Given the description of an element on the screen output the (x, y) to click on. 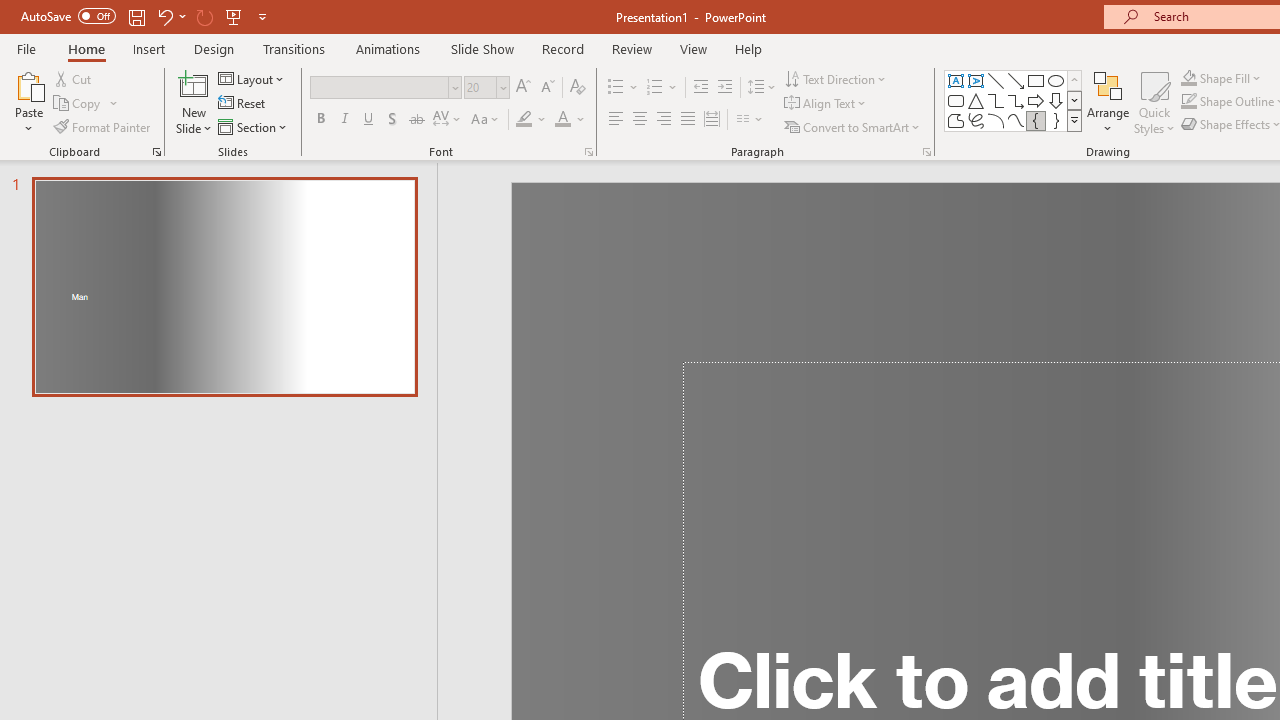
Paragraph... (926, 151)
Columns (750, 119)
Center (639, 119)
Connector: Elbow (995, 100)
Isosceles Triangle (975, 100)
Clear Formatting (577, 87)
Right Brace (1055, 120)
Rectangle: Rounded Corners (955, 100)
Arc (995, 120)
